Given the description of an element on the screen output the (x, y) to click on. 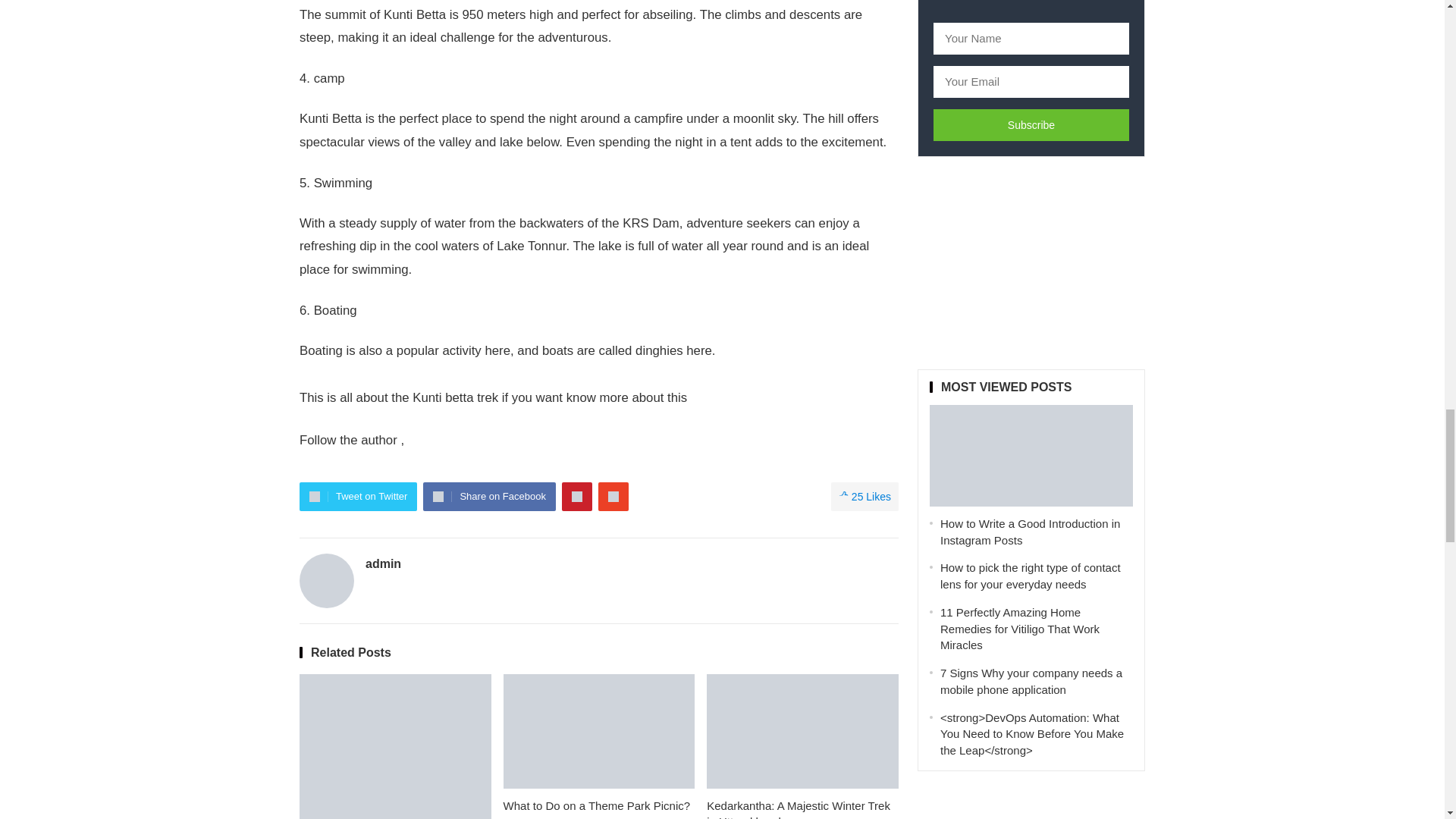
Like this post (864, 496)
Subscribe (1031, 124)
Advertisement (1030, 262)
